Given the description of an element on the screen output the (x, y) to click on. 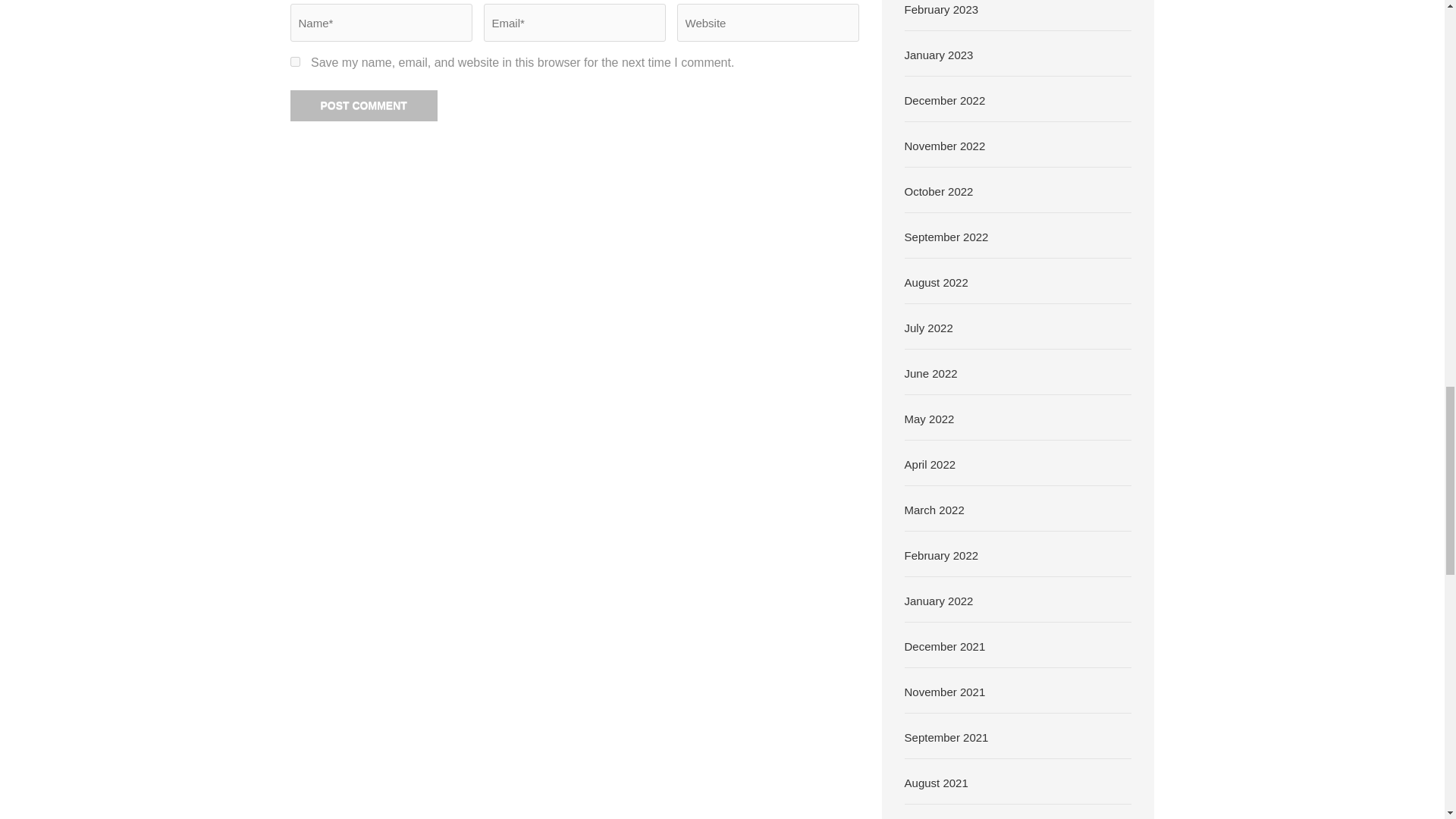
yes (294, 61)
Post Comment (362, 105)
Post Comment (362, 105)
